Given the description of an element on the screen output the (x, y) to click on. 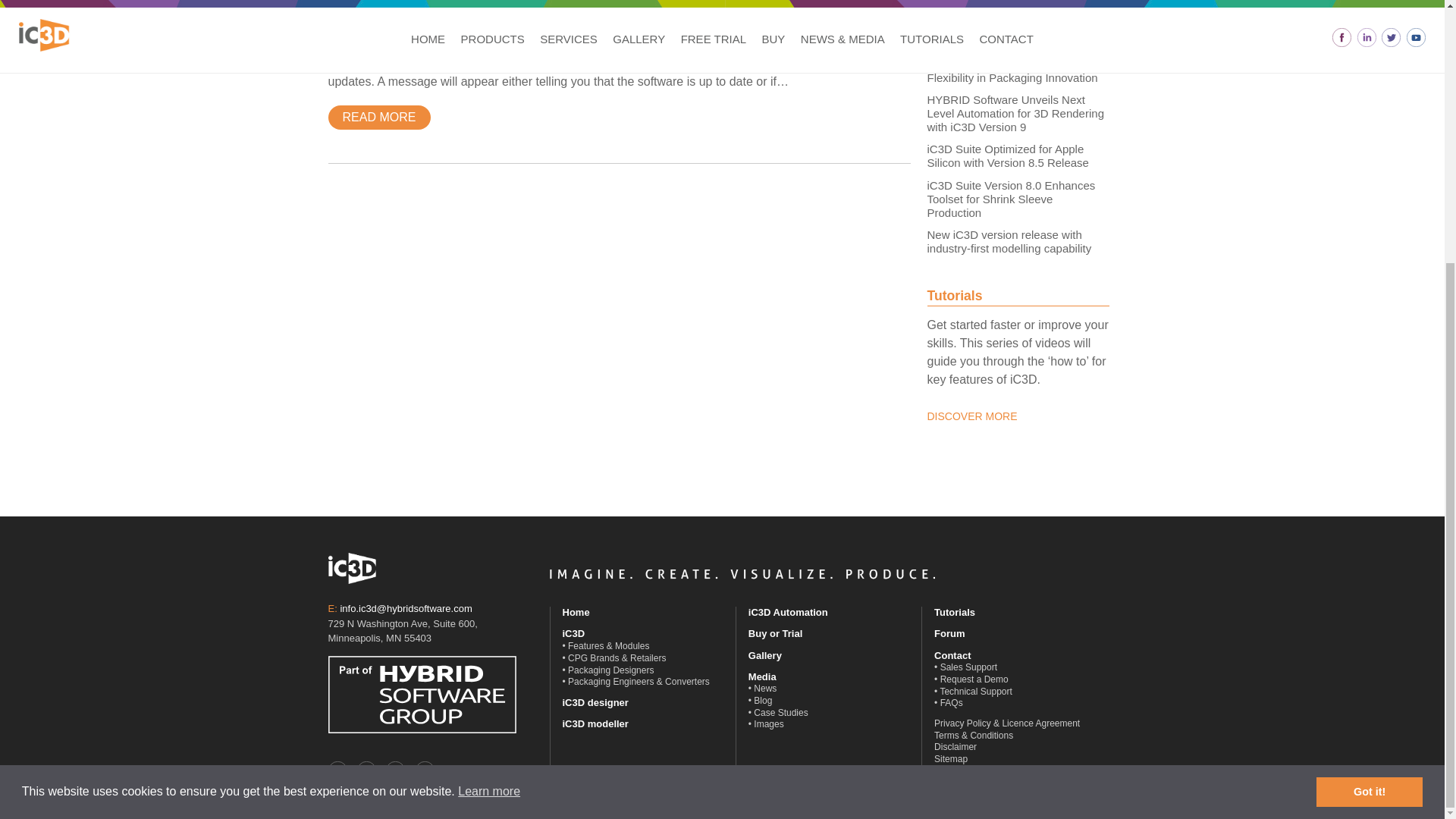
How do I get software updates for iC3D? (510, 5)
How do I get software updates for iC3D? (510, 5)
Read How do I get software updates for iC3D? (378, 117)
DISCOVER MORE (971, 416)
Learn more (490, 412)
READ MORE (378, 117)
Got it! (1369, 412)
